Given the description of an element on the screen output the (x, y) to click on. 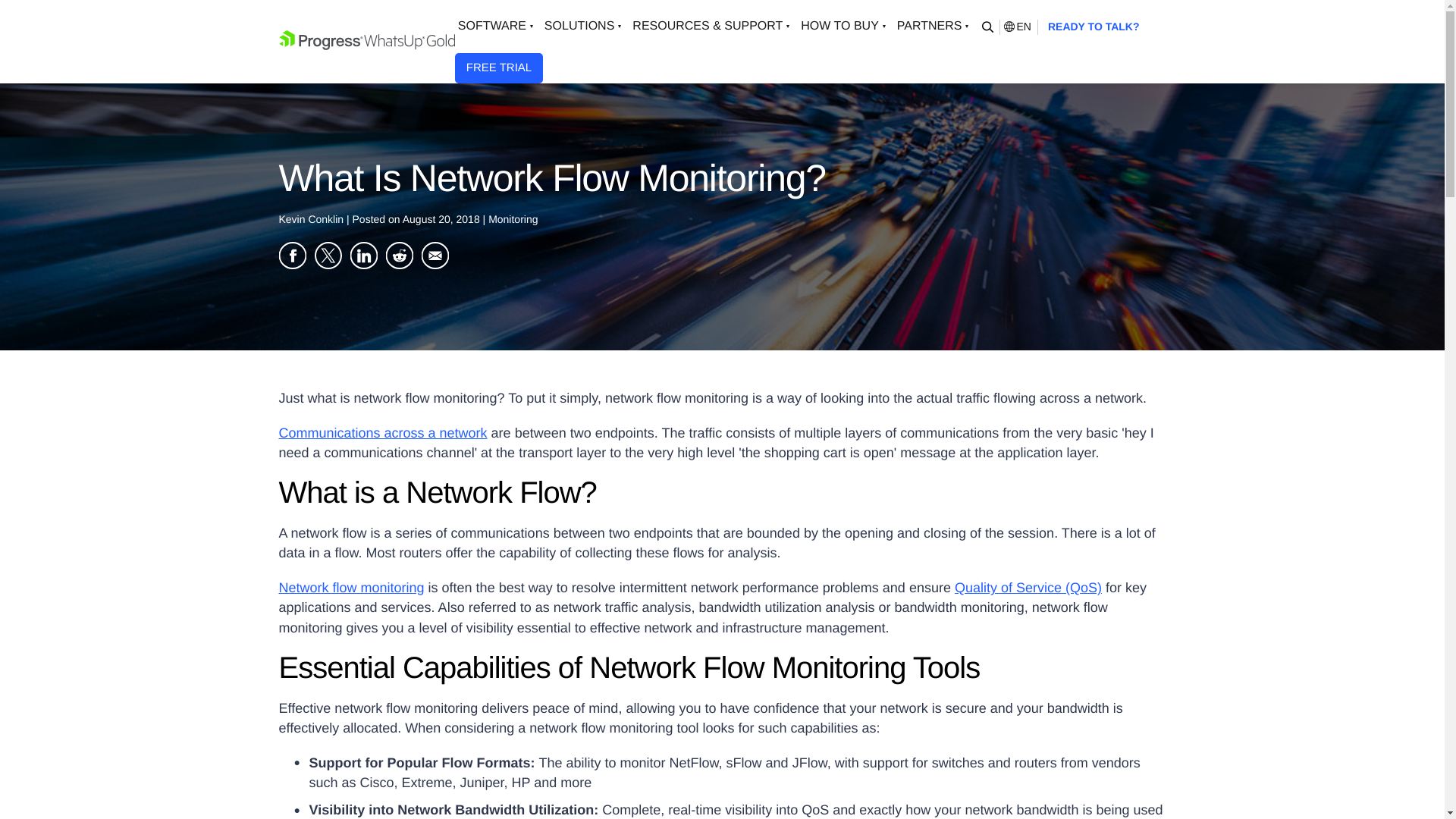
Email (435, 255)
View all posts by Kevin Conklin (313, 218)
SKIP NAVIGATION (366, 40)
SOFTWARE (497, 26)
Monitoring (512, 218)
Reddit (399, 255)
Facebook (292, 255)
Linkedin (363, 255)
SOLUTIONS (584, 26)
